Given the description of an element on the screen output the (x, y) to click on. 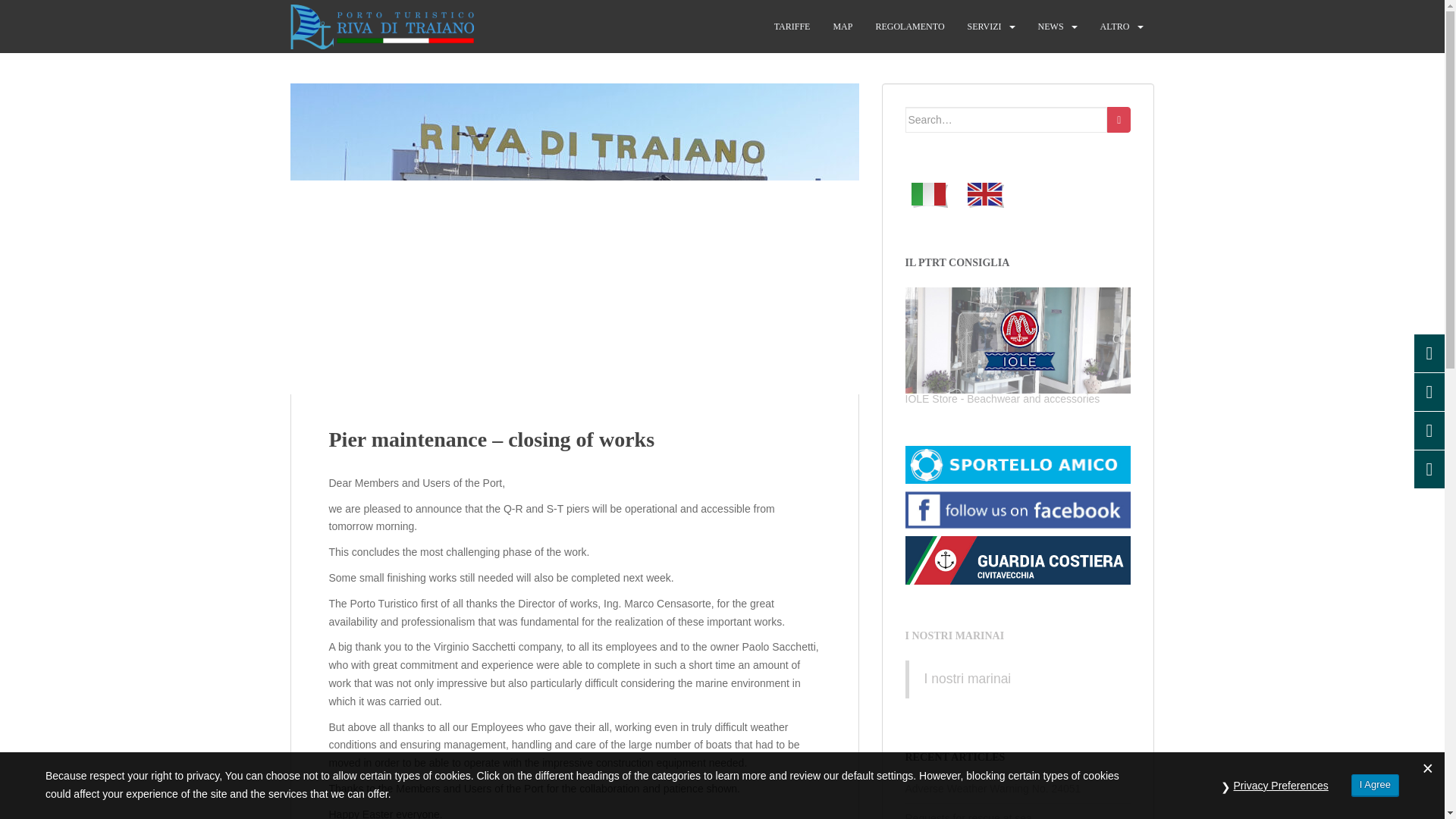
Search for: (1006, 119)
Search (1118, 119)
Italiano (929, 194)
English (985, 194)
TARIFFE (792, 26)
SERVIZI (984, 26)
REGOLAMENTO (909, 26)
ALTRO (1114, 26)
